Given the description of an element on the screen output the (x, y) to click on. 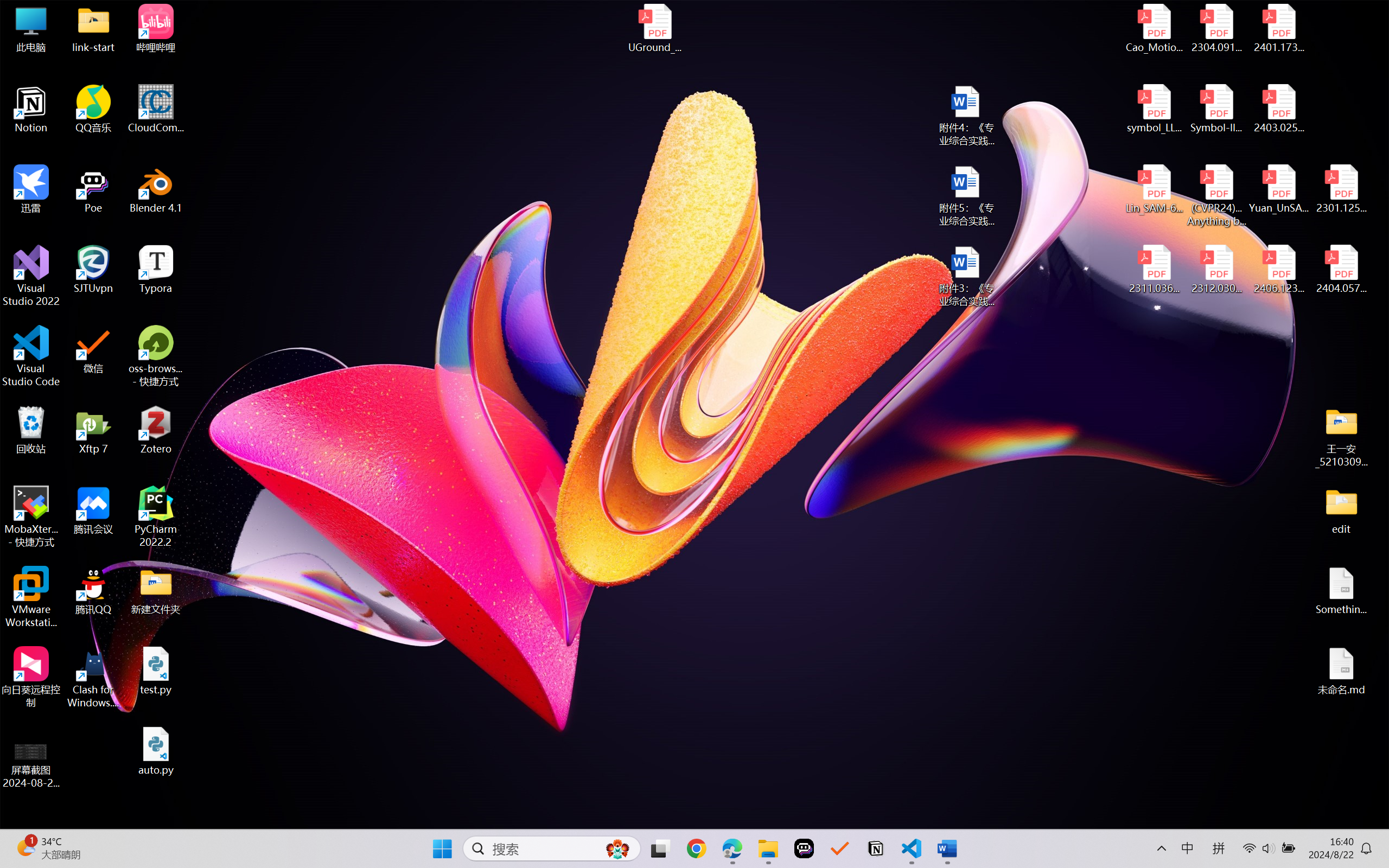
Typora (156, 269)
Something.md (1340, 591)
test.py (156, 670)
2304.09121v3.pdf (1216, 28)
CloudCompare (156, 109)
2401.17399v1.pdf (1278, 28)
